Given the description of an element on the screen output the (x, y) to click on. 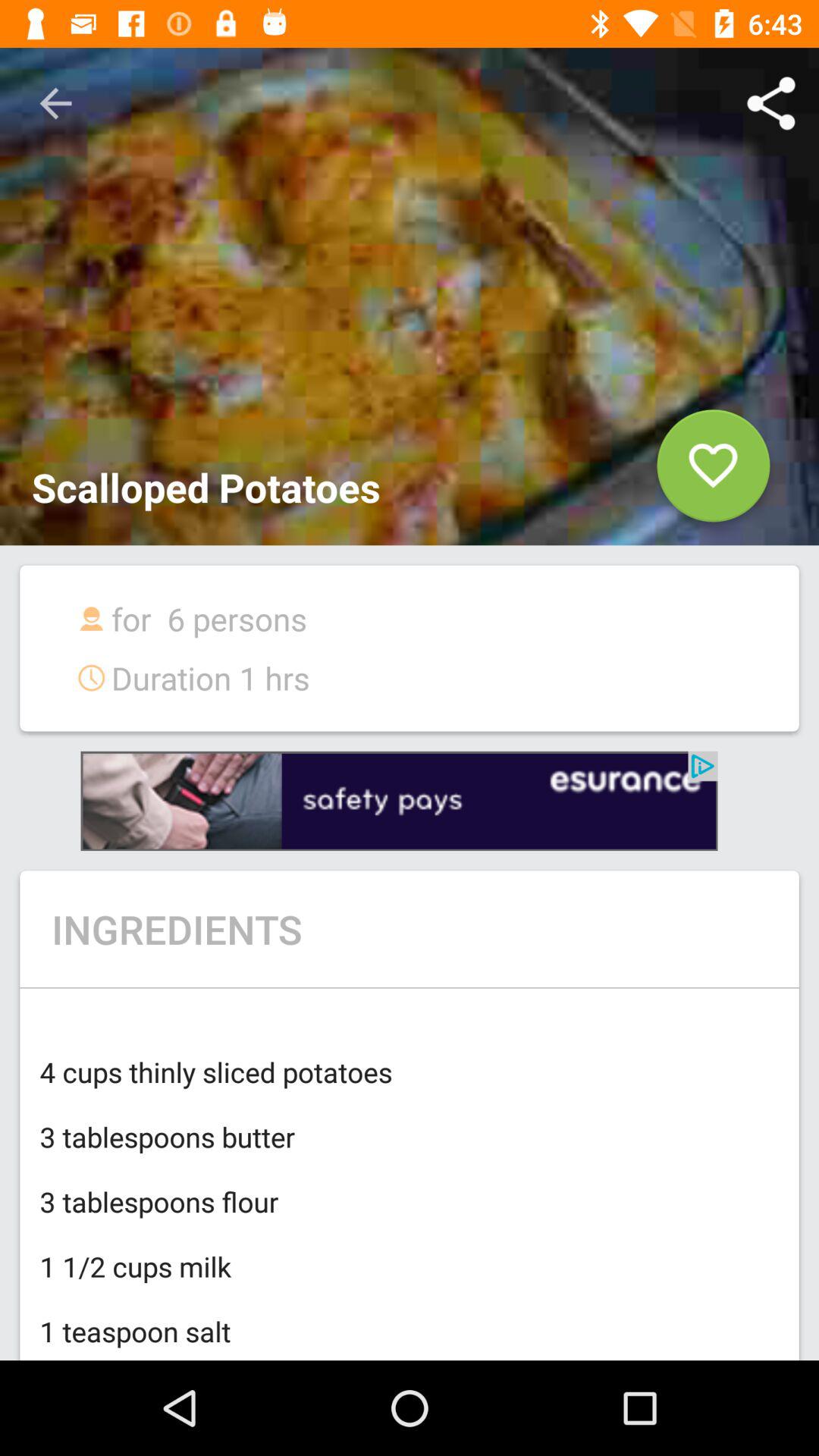
next to option (398, 800)
